Given the description of an element on the screen output the (x, y) to click on. 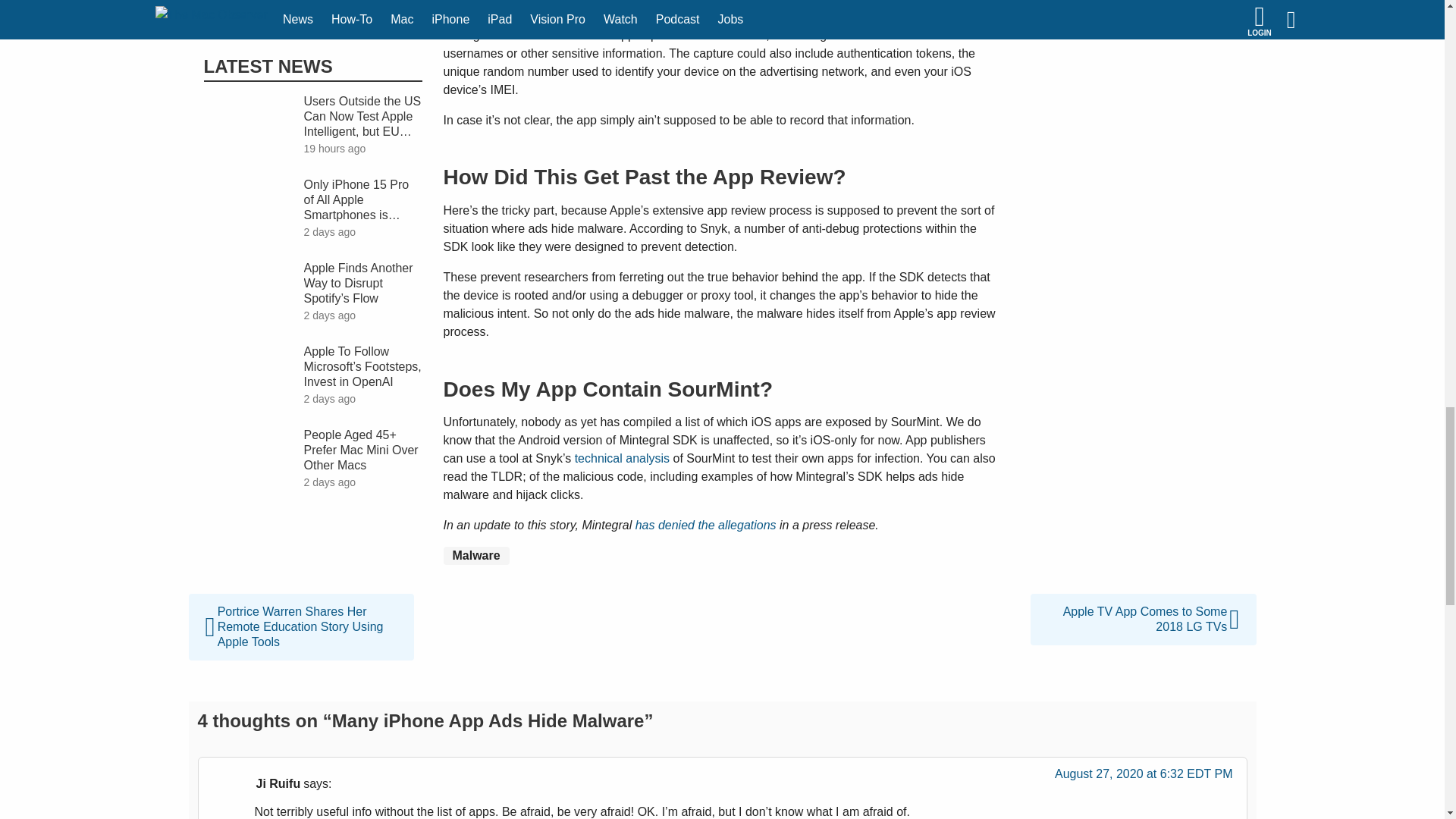
August 27, 2020 at 6:32 EDT PM (1143, 777)
technical analysis (622, 458)
Apple TV App Comes to Some 2018 LG TVs (1142, 602)
has denied the allegations (705, 524)
Malware (475, 556)
